Given the description of an element on the screen output the (x, y) to click on. 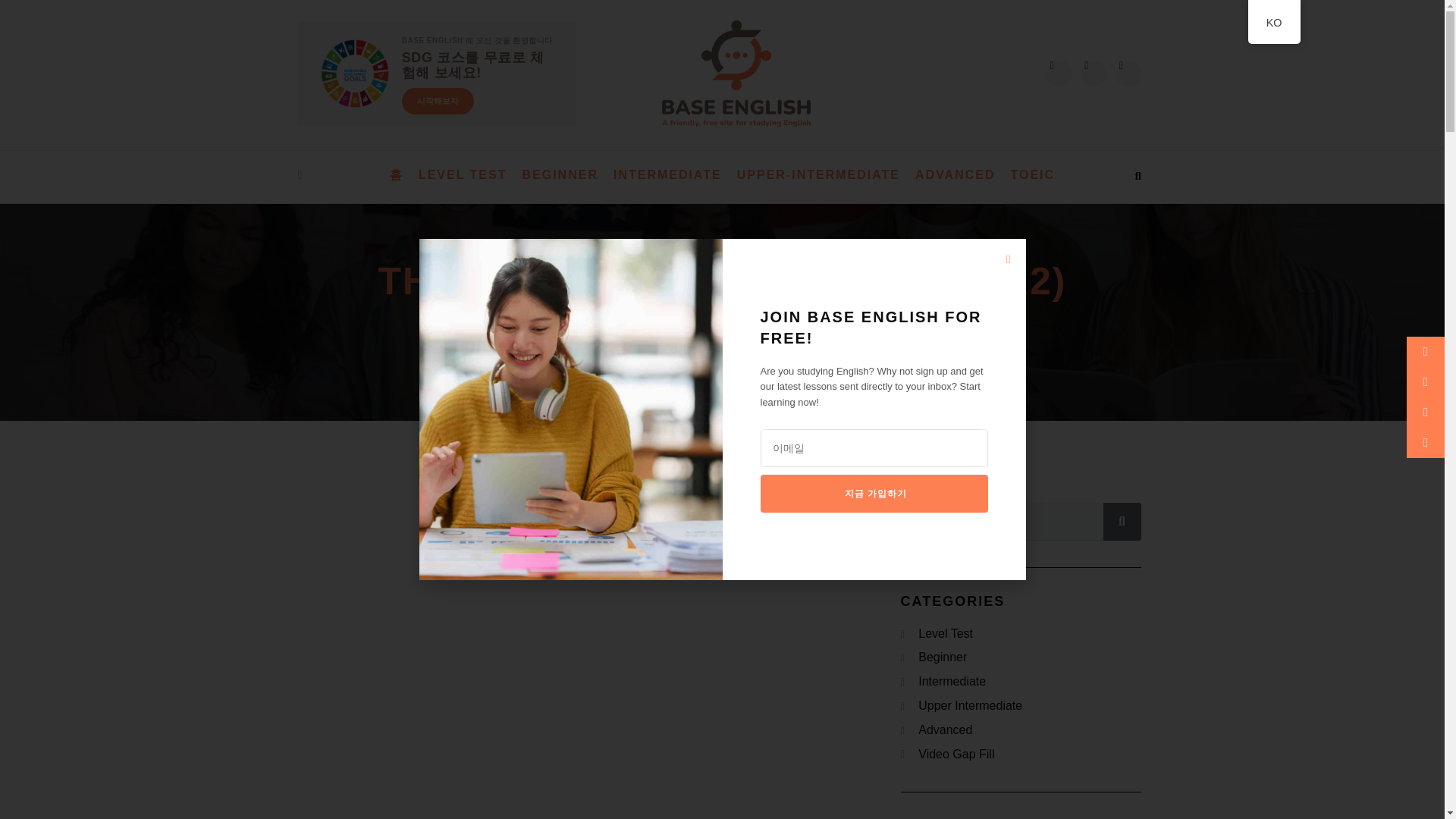
Upper Intermediate (1021, 706)
Advanced (1021, 730)
UPPER-INTERMEDIATE (818, 175)
ADVANCED (955, 175)
Beginner (1021, 658)
INTERMEDIATE (667, 175)
TOEIC (1032, 175)
Video Gap Fill (1021, 754)
Intermediate (1021, 681)
Level Test (1021, 634)
LEVEL TEST (462, 175)
BEGINNER (559, 175)
Base English (671, 329)
